Given the description of an element on the screen output the (x, y) to click on. 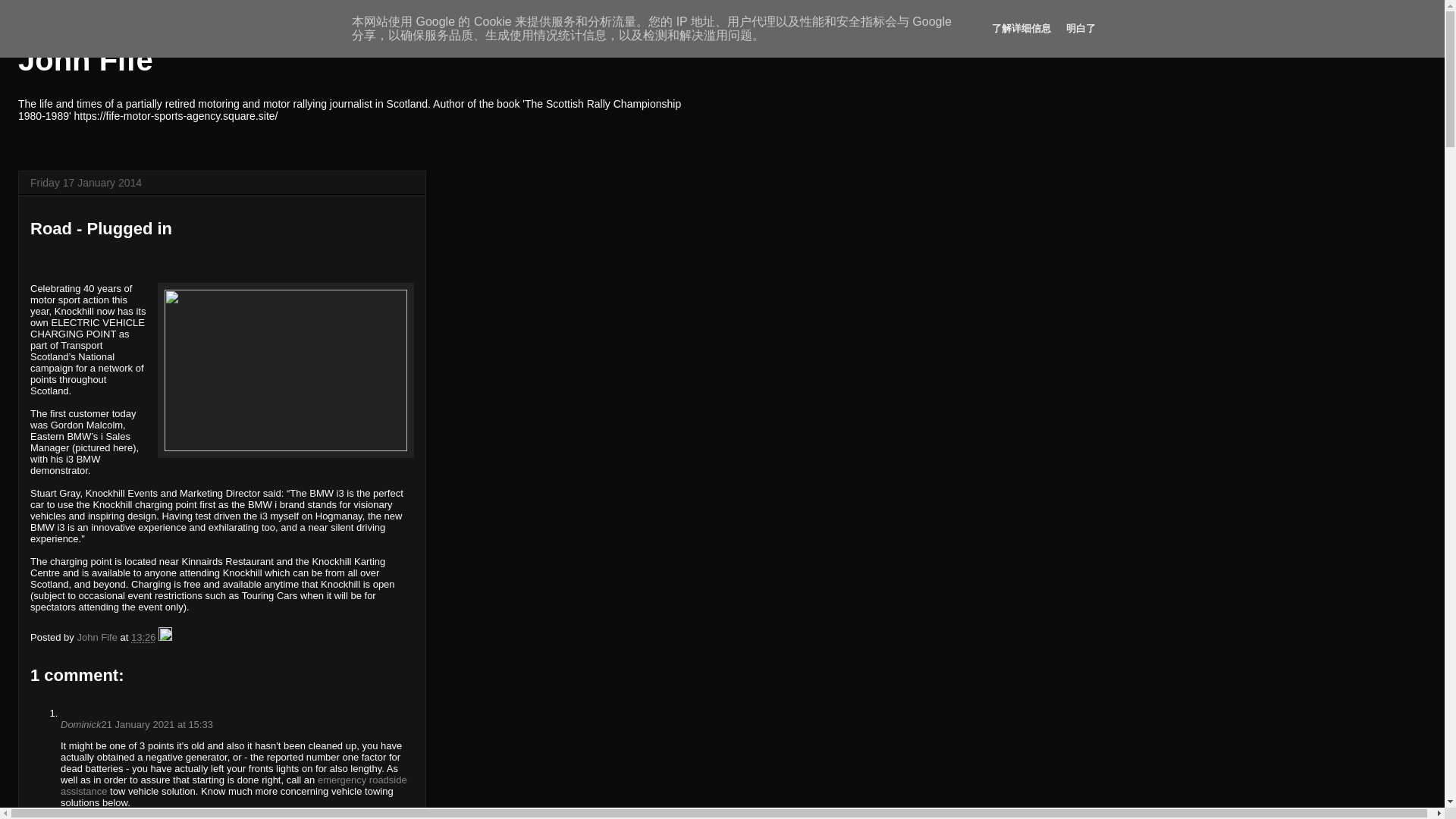
John Fife (84, 59)
13:26 (143, 636)
21 January 2021 at 15:33 (156, 724)
Edit Post (164, 636)
permanent link (143, 636)
author profile (98, 636)
Dominick (80, 724)
John Fife (98, 636)
emergency roadside assistance (234, 784)
